Given the description of an element on the screen output the (x, y) to click on. 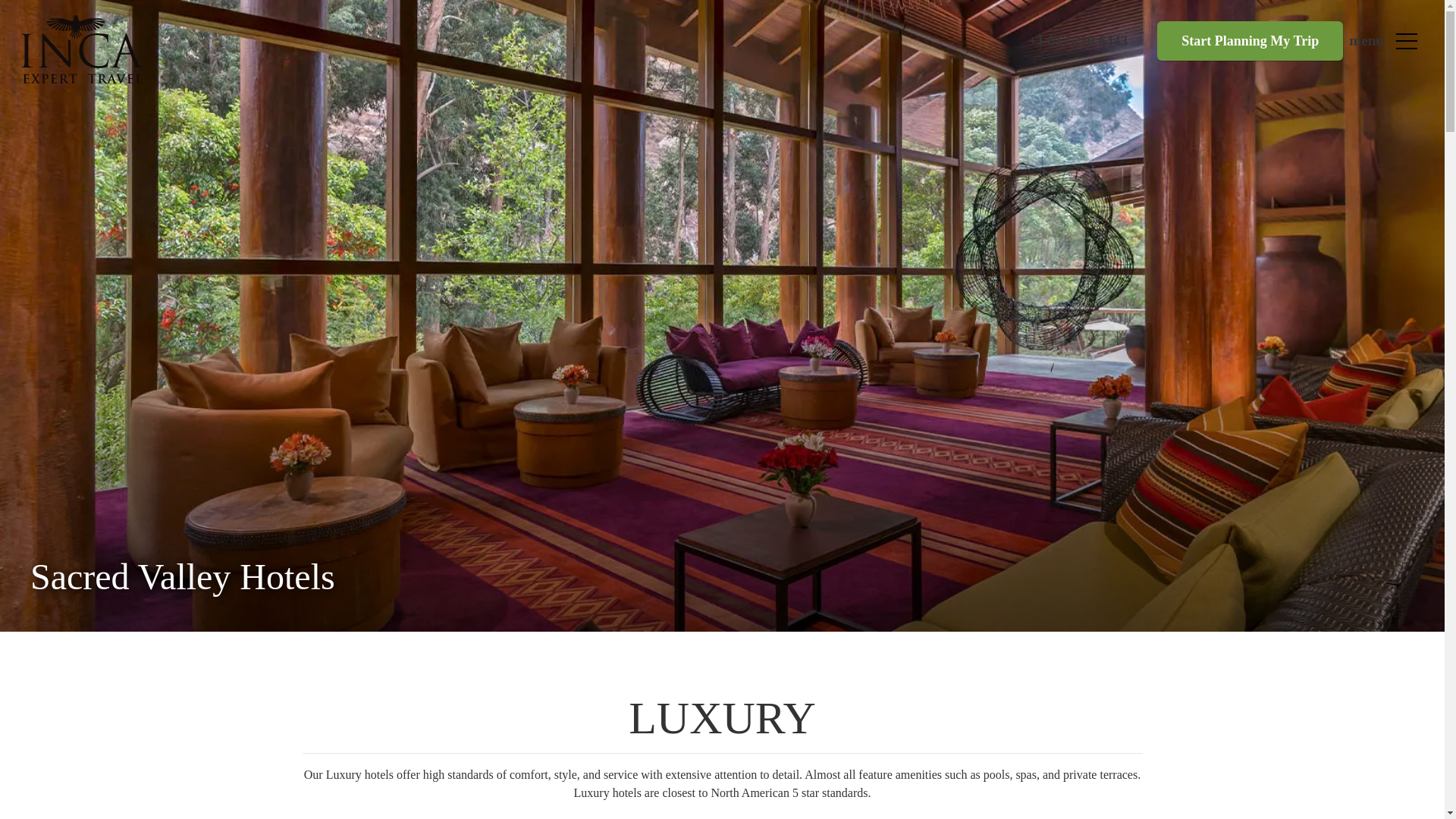
Start Planning My Trip (1249, 41)
menu (1366, 41)
